Given the description of an element on the screen output the (x, y) to click on. 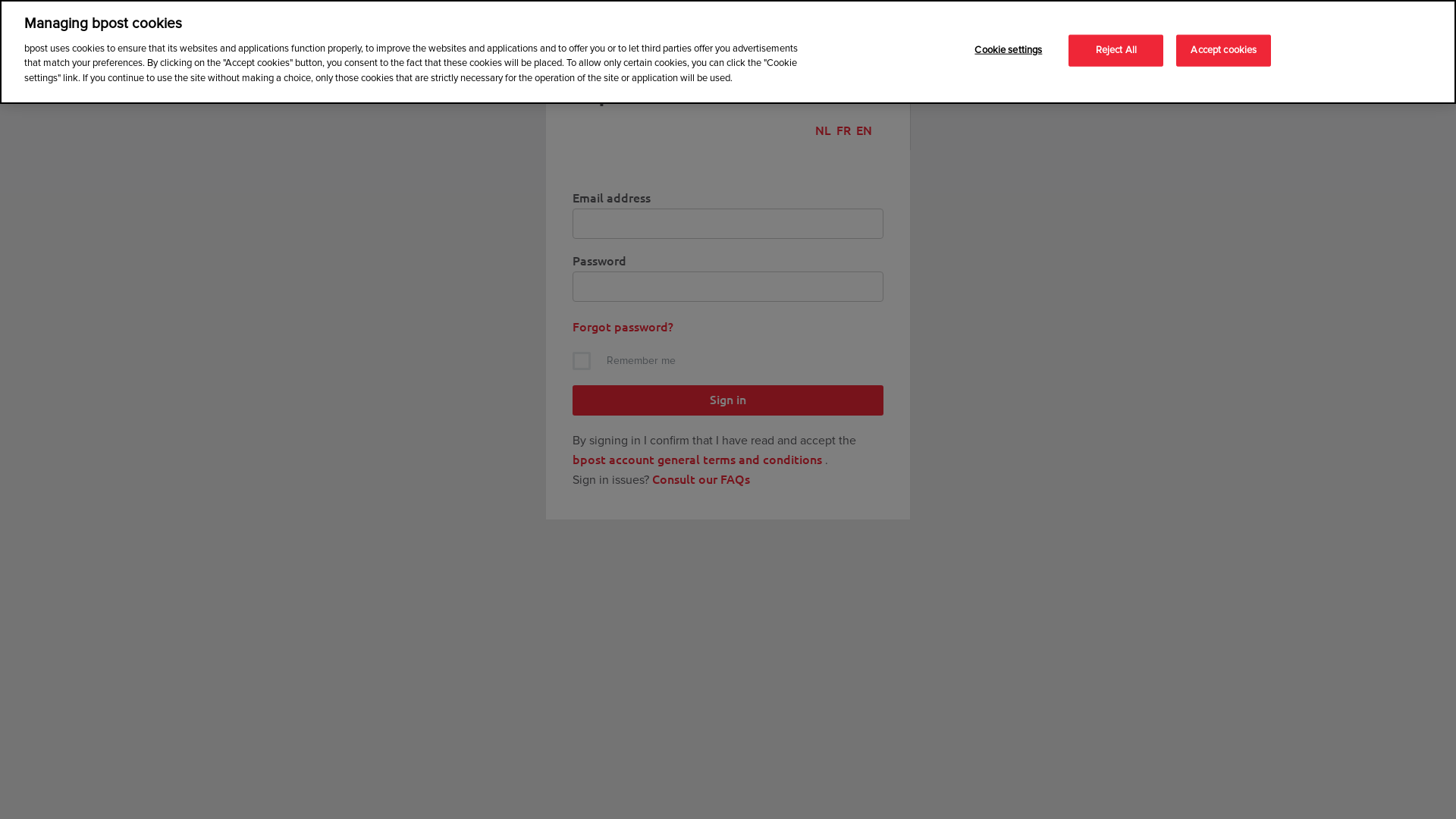
Reject All Element type: text (1115, 50)
EN Element type: text (864, 129)
Cookie settings Element type: text (1007, 50)
Consult our FAQs Element type: text (700, 478)
Forgot password? Element type: text (622, 325)
Accept cookies Element type: text (1223, 50)
FR Element type: text (843, 129)
NL Element type: text (823, 129)
Sign in Element type: text (727, 400)
bpost account general terms and conditions Element type: text (697, 458)
